Given the description of an element on the screen output the (x, y) to click on. 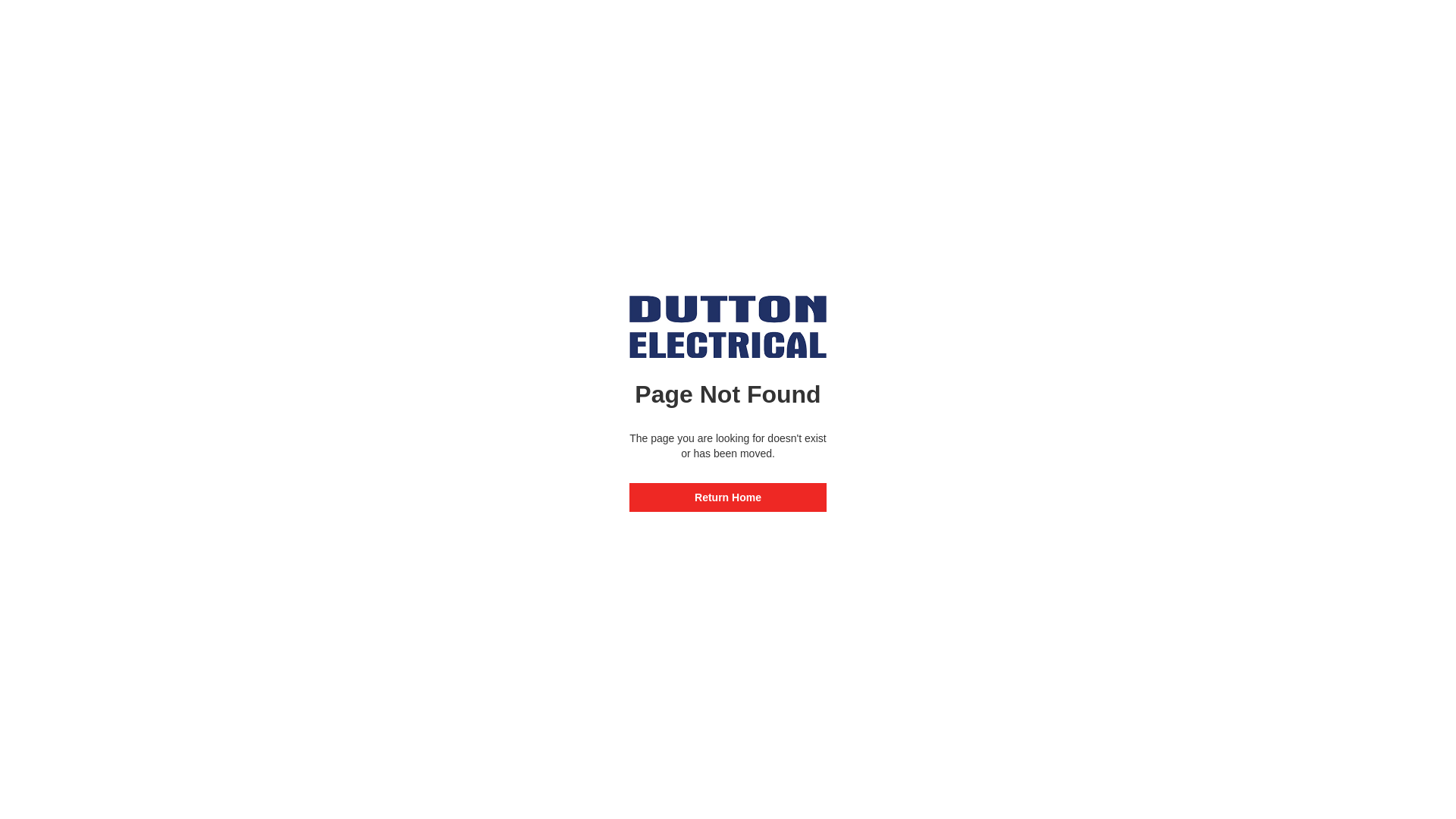
Return Home Element type: text (727, 497)
